Given the description of an element on the screen output the (x, y) to click on. 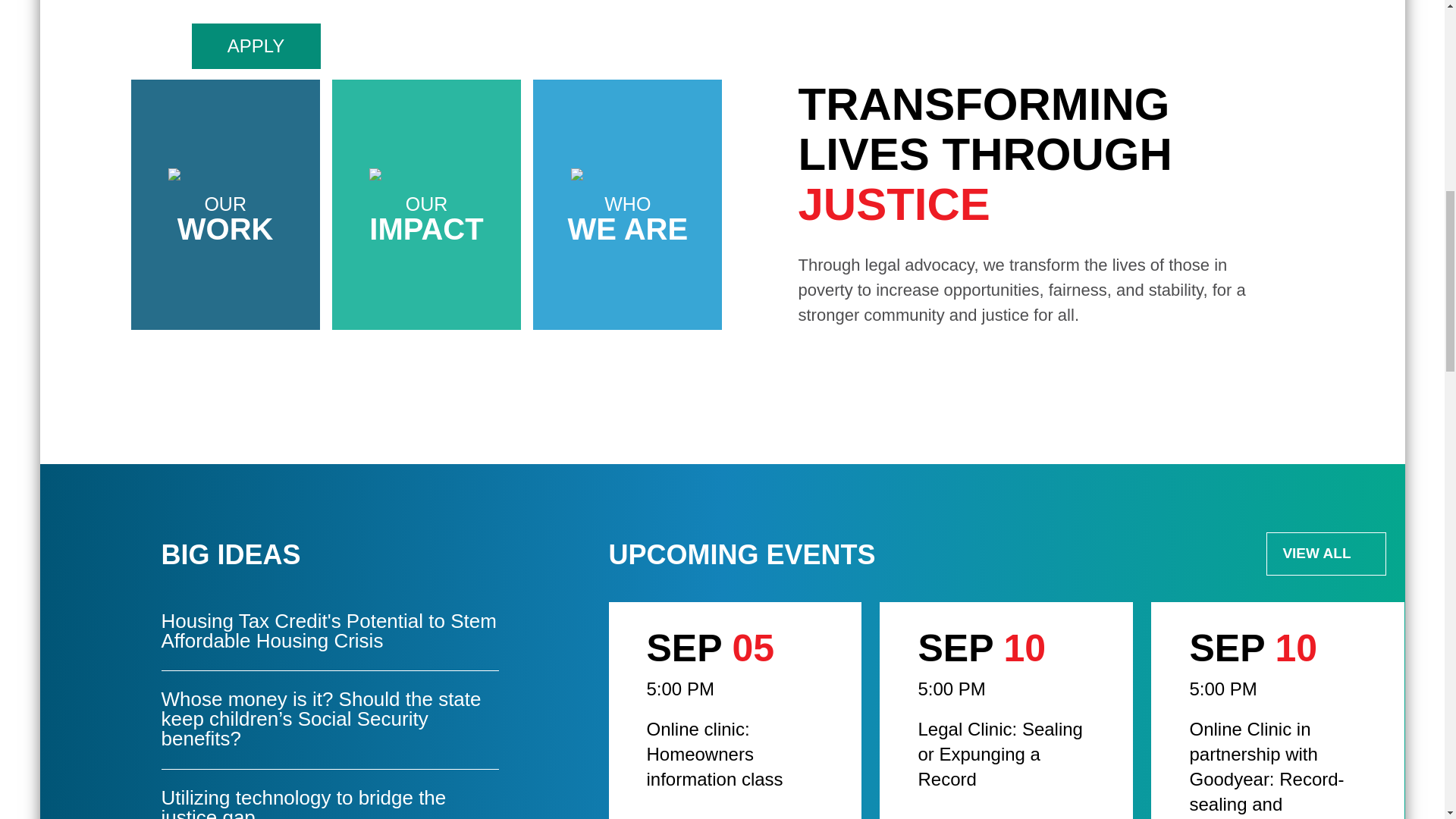
Utilizing technology to bridge the justice gap (328, 794)
APPLY (1005, 710)
VIEW ALL (255, 45)
